Given the description of an element on the screen output the (x, y) to click on. 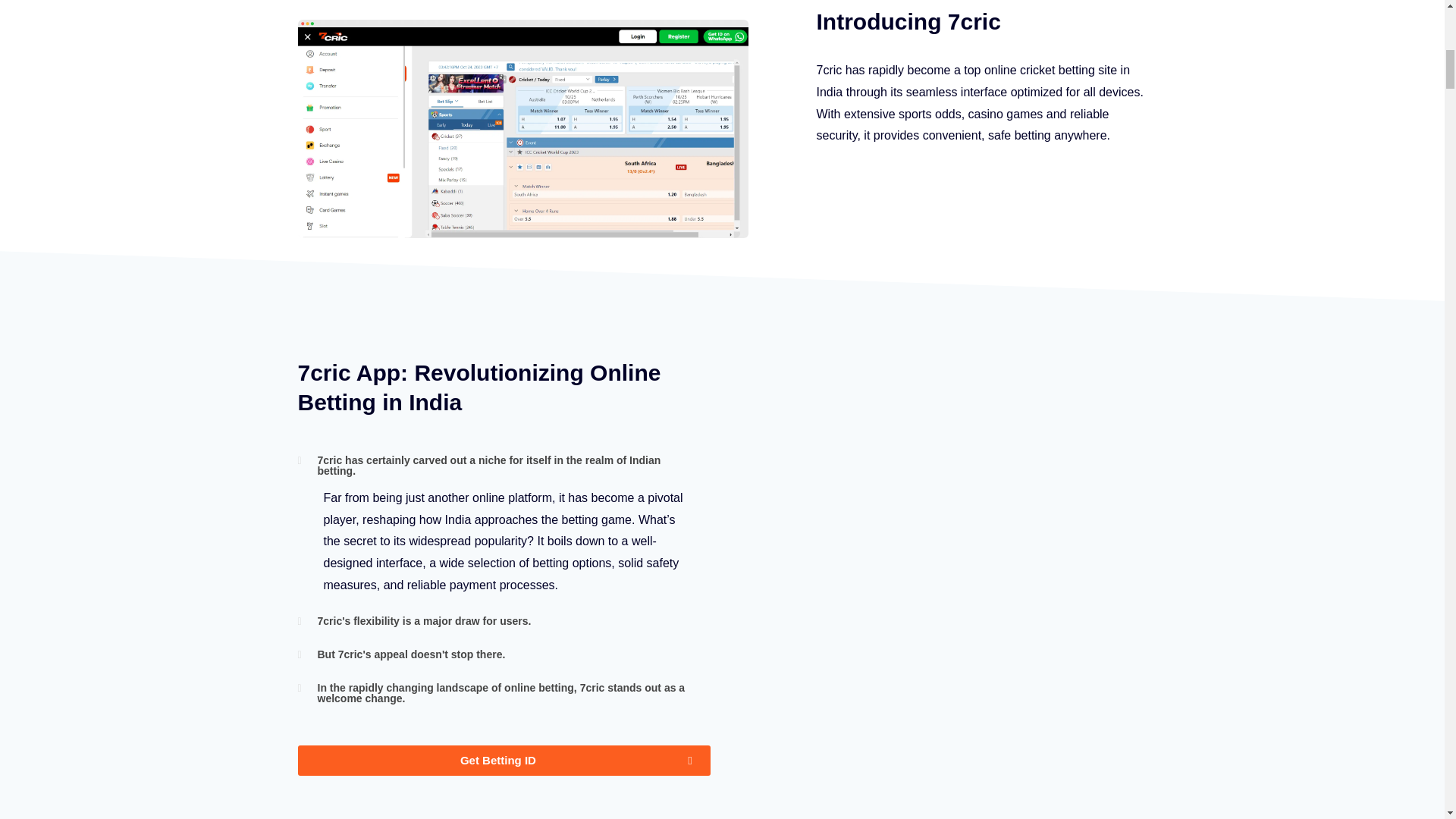
Get Betting ID (503, 760)
7cric's flexibility is a major draw for users. (424, 621)
But 7cric's appeal doesn't stop there. (411, 654)
